Given the description of an element on the screen output the (x, y) to click on. 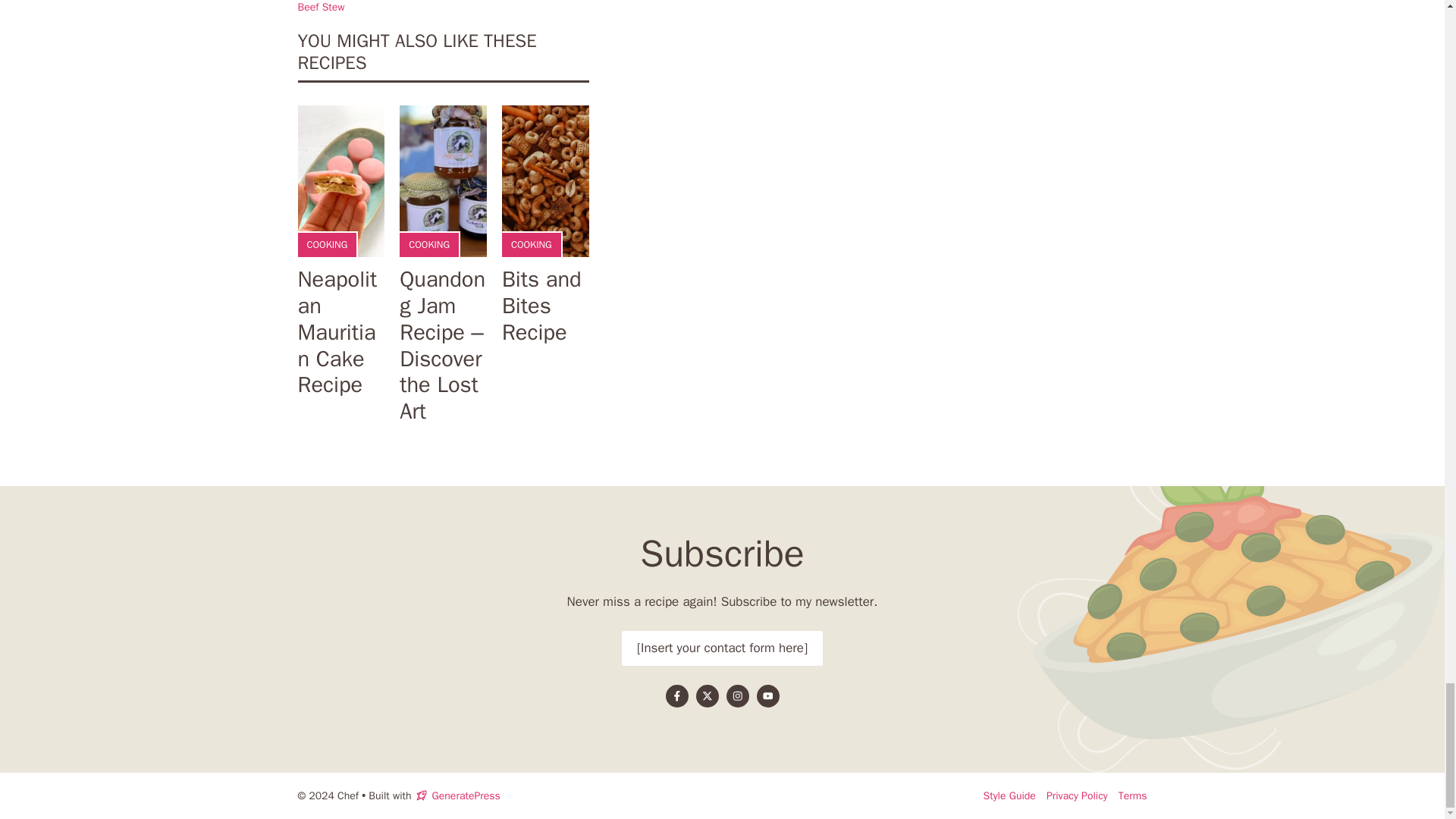
Neapolitan Mauritian Cake Recipe (337, 331)
COOKING (326, 244)
COOKING (531, 244)
Beef Stew (320, 6)
Bits and Bites Recipe (541, 305)
COOKING (429, 244)
